Given the description of an element on the screen output the (x, y) to click on. 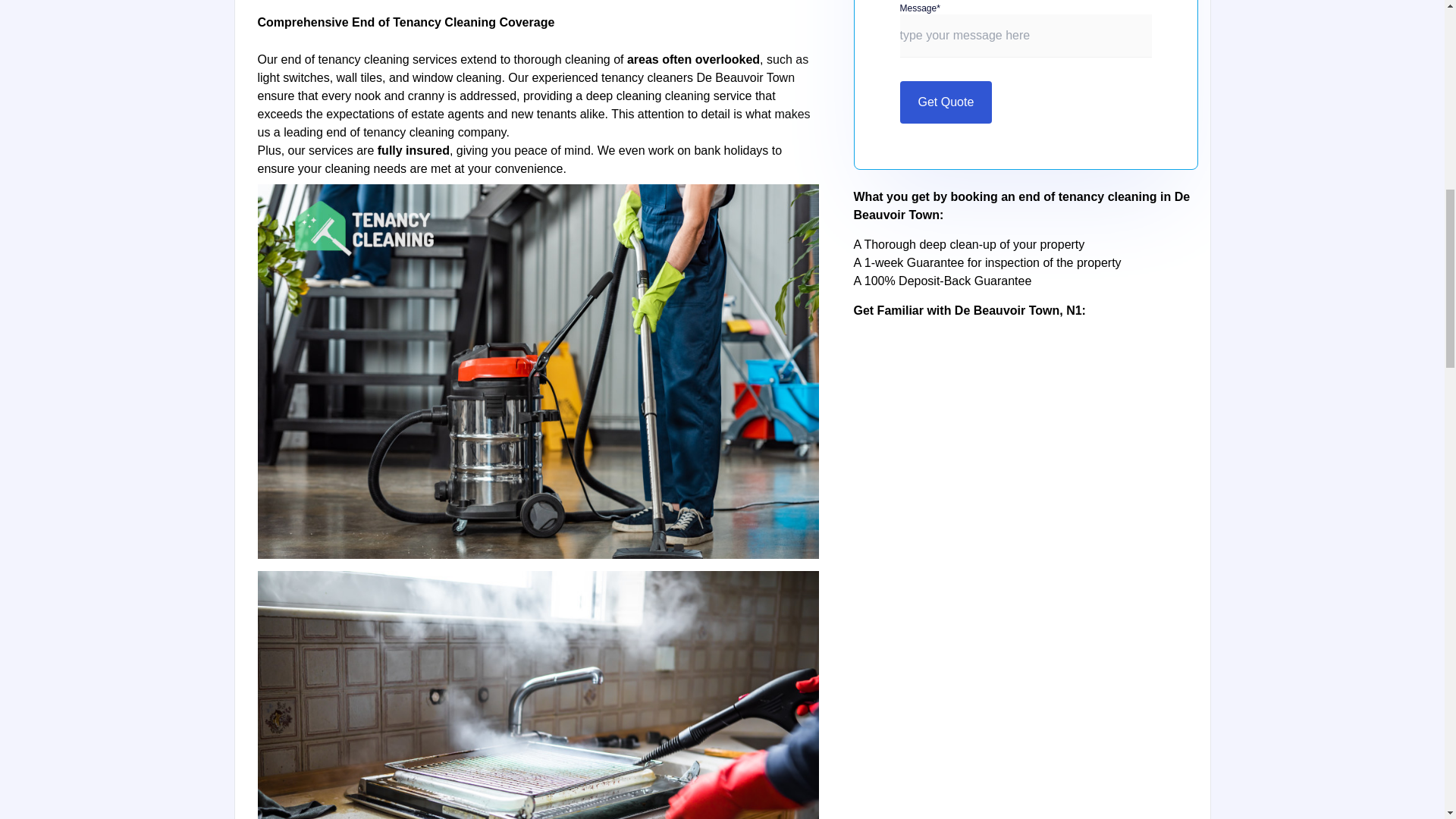
Get Quote (945, 102)
Map of De Beauvoir Town, London - N1 (1025, 415)
